Given the description of an element on the screen output the (x, y) to click on. 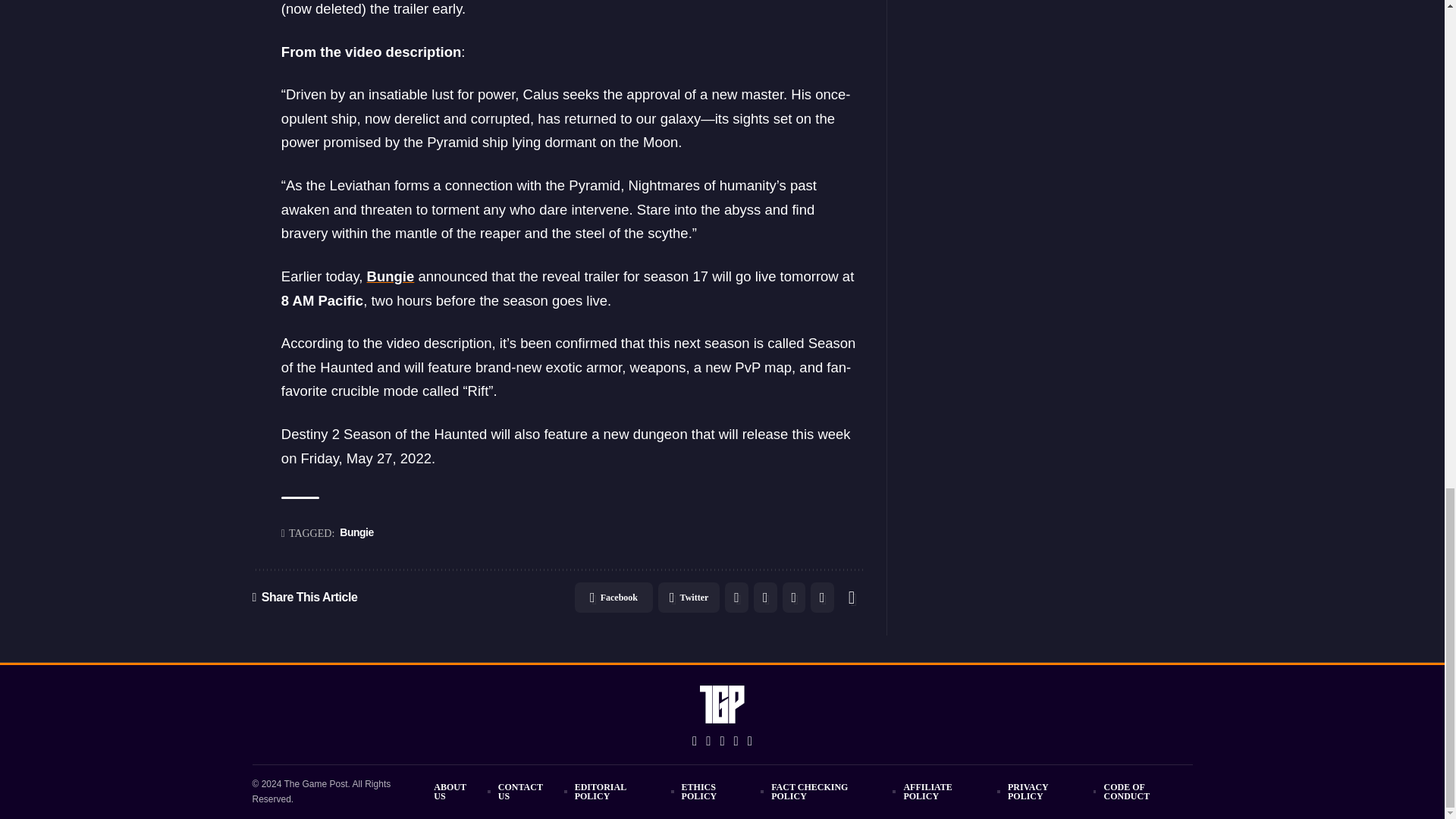
The Game Post (722, 704)
